Given the description of an element on the screen output the (x, y) to click on. 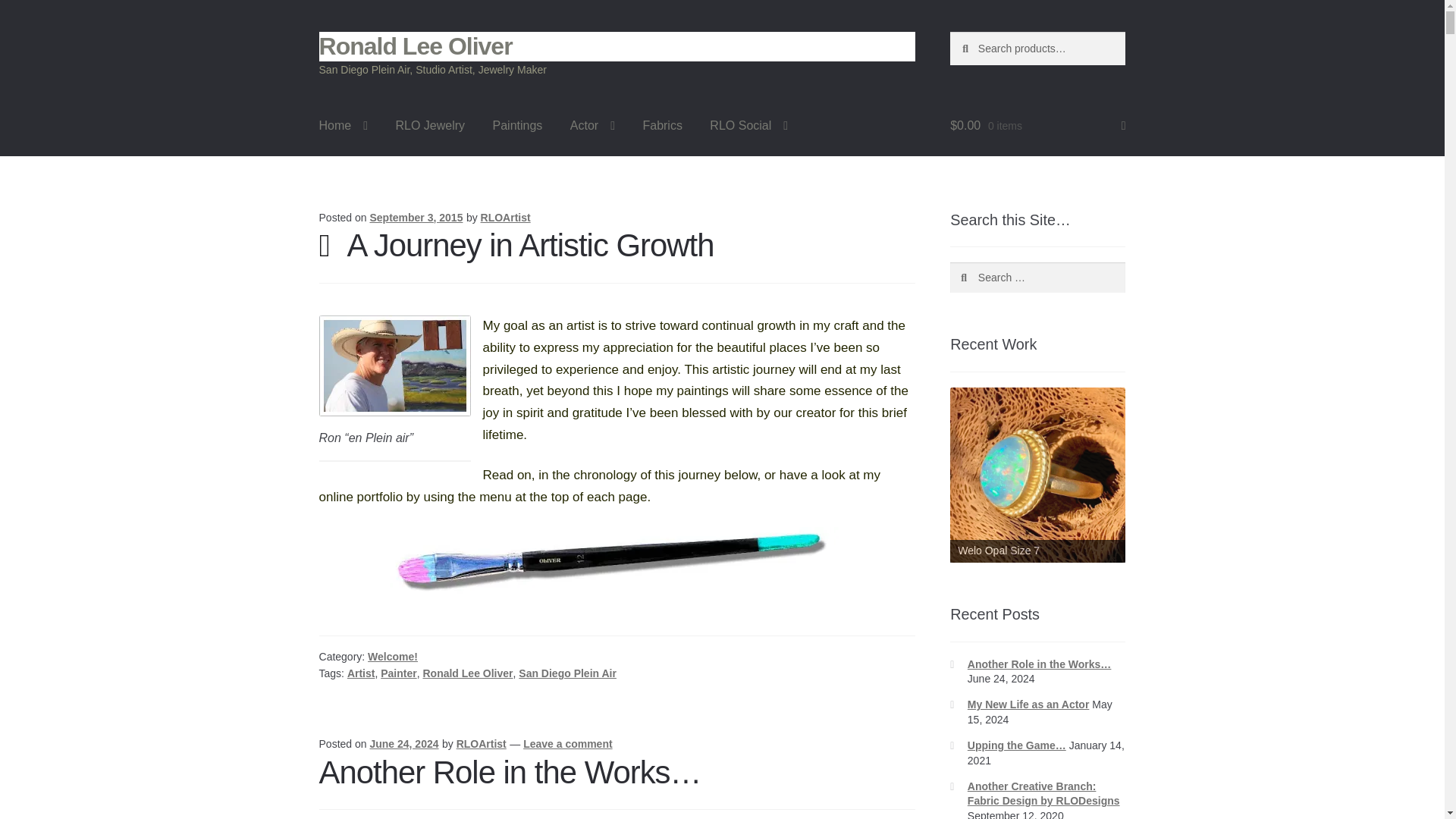
Ronald Lee Oliver (415, 45)
RLO Social (748, 125)
Fabrics (662, 125)
Home (343, 125)
RLO Jewelry (430, 125)
Paintings (517, 125)
September 3, 2015 (416, 217)
Actor (592, 125)
View your shopping cart (1037, 125)
